Given the description of an element on the screen output the (x, y) to click on. 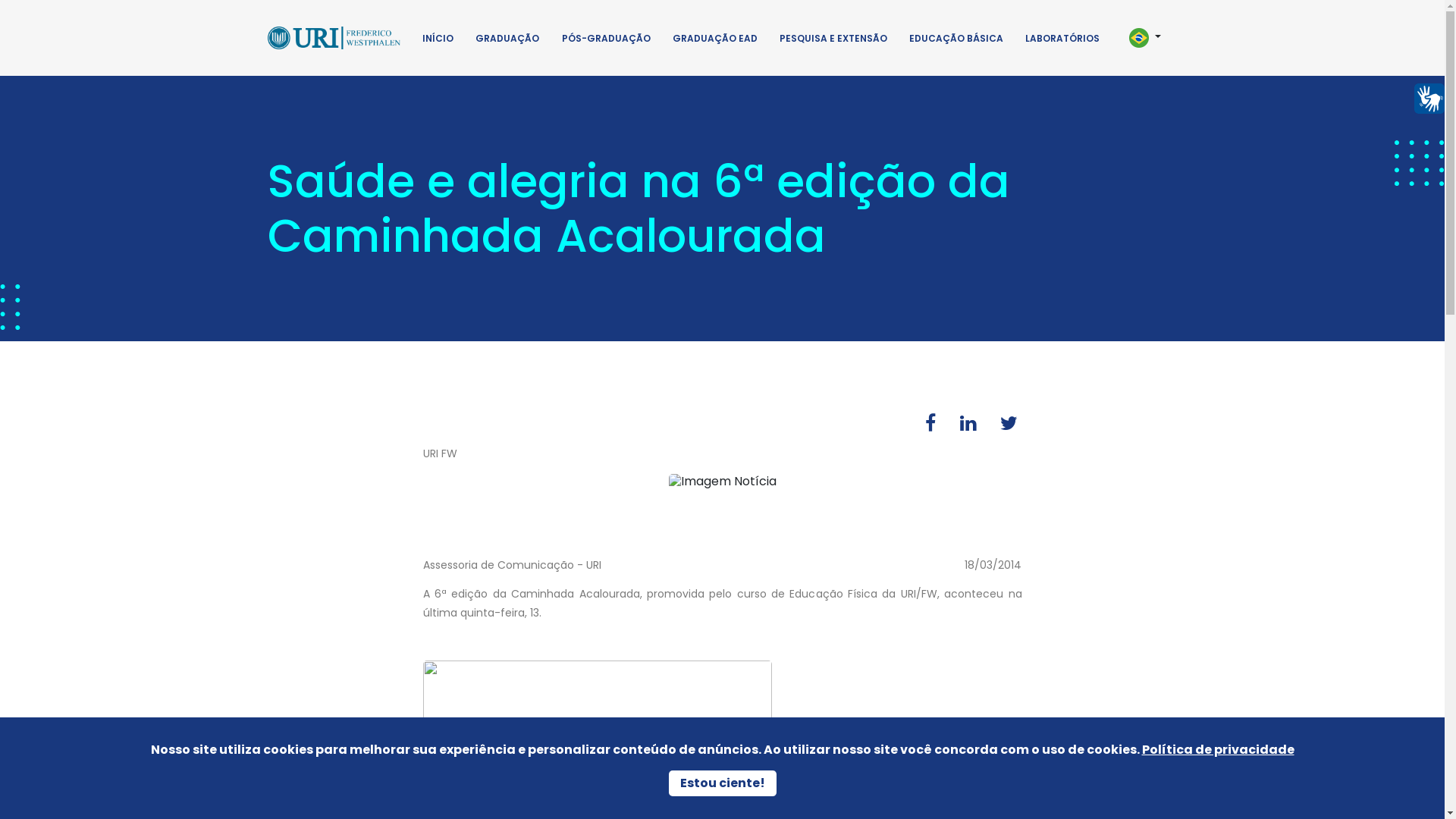
VLibras Element type: hover (1429, 98)
Estou ciente! Element type: text (722, 783)
